Given the description of an element on the screen output the (x, y) to click on. 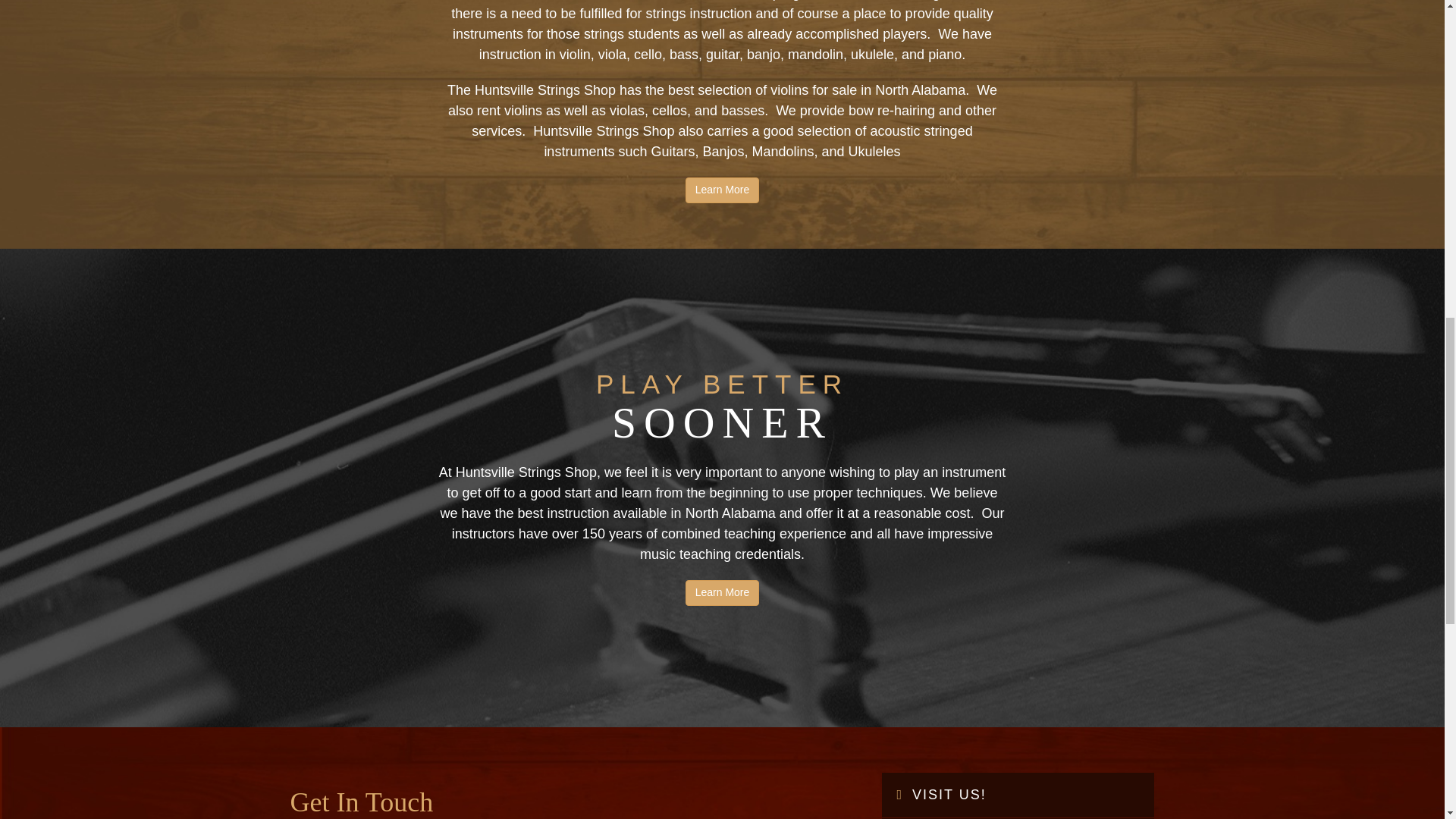
Learn More (722, 190)
Learn More (722, 592)
